Given the description of an element on the screen output the (x, y) to click on. 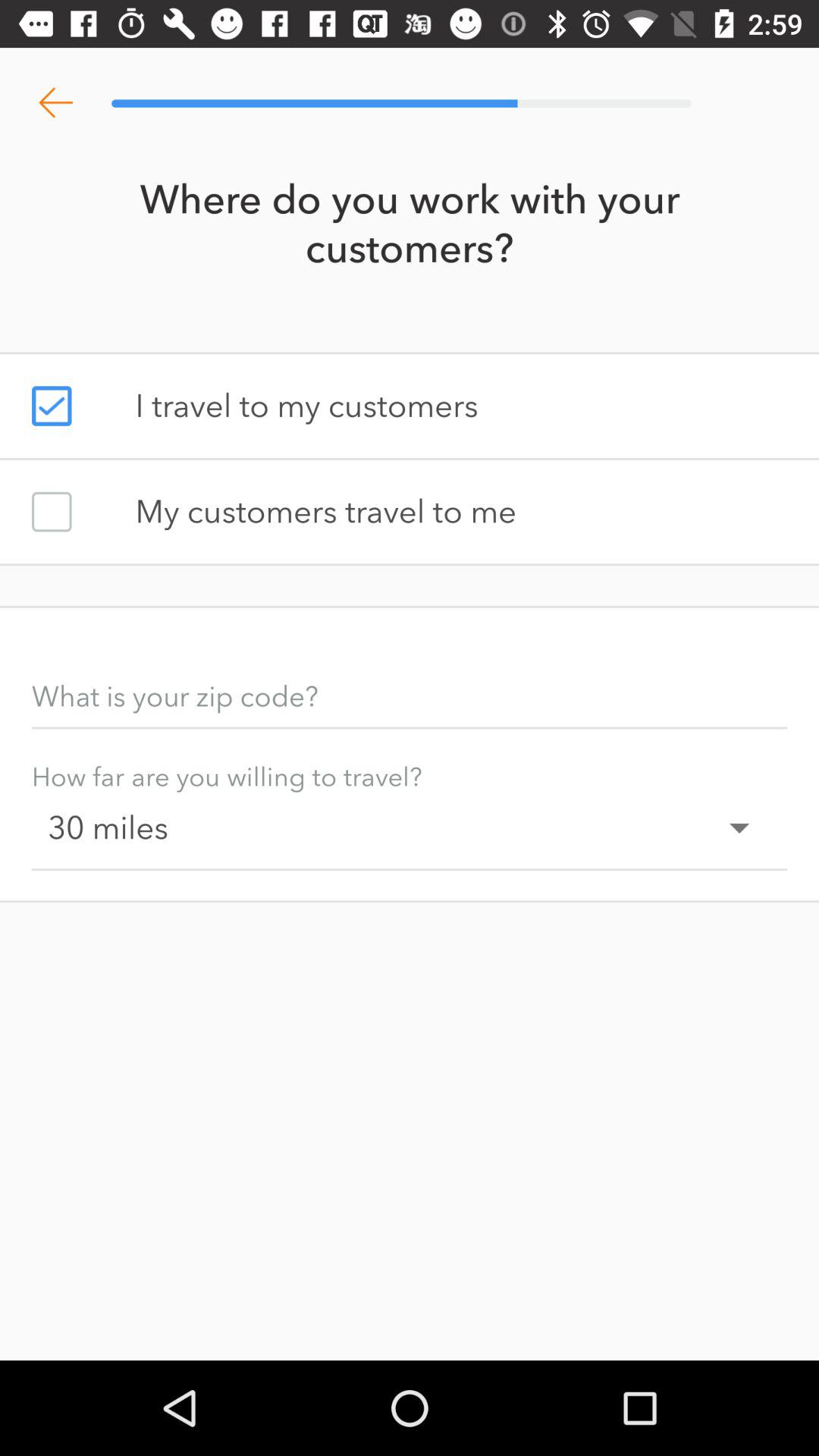
go back (55, 103)
